Given the description of an element on the screen output the (x, y) to click on. 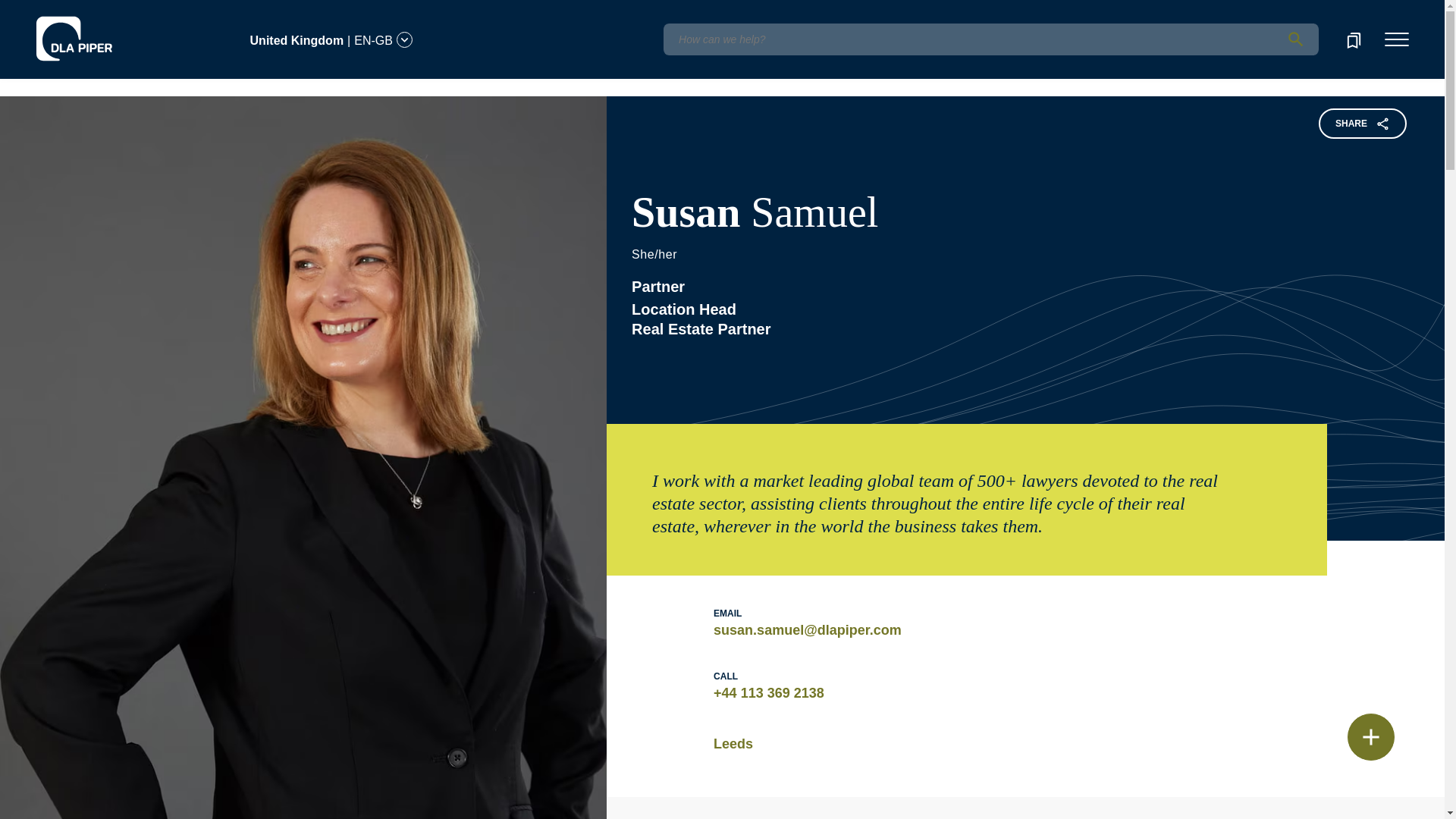
Deutsch (157, 11)
English (116, 31)
Insert a query. Press enter to send (990, 39)
English (115, 11)
